Given the description of an element on the screen output the (x, y) to click on. 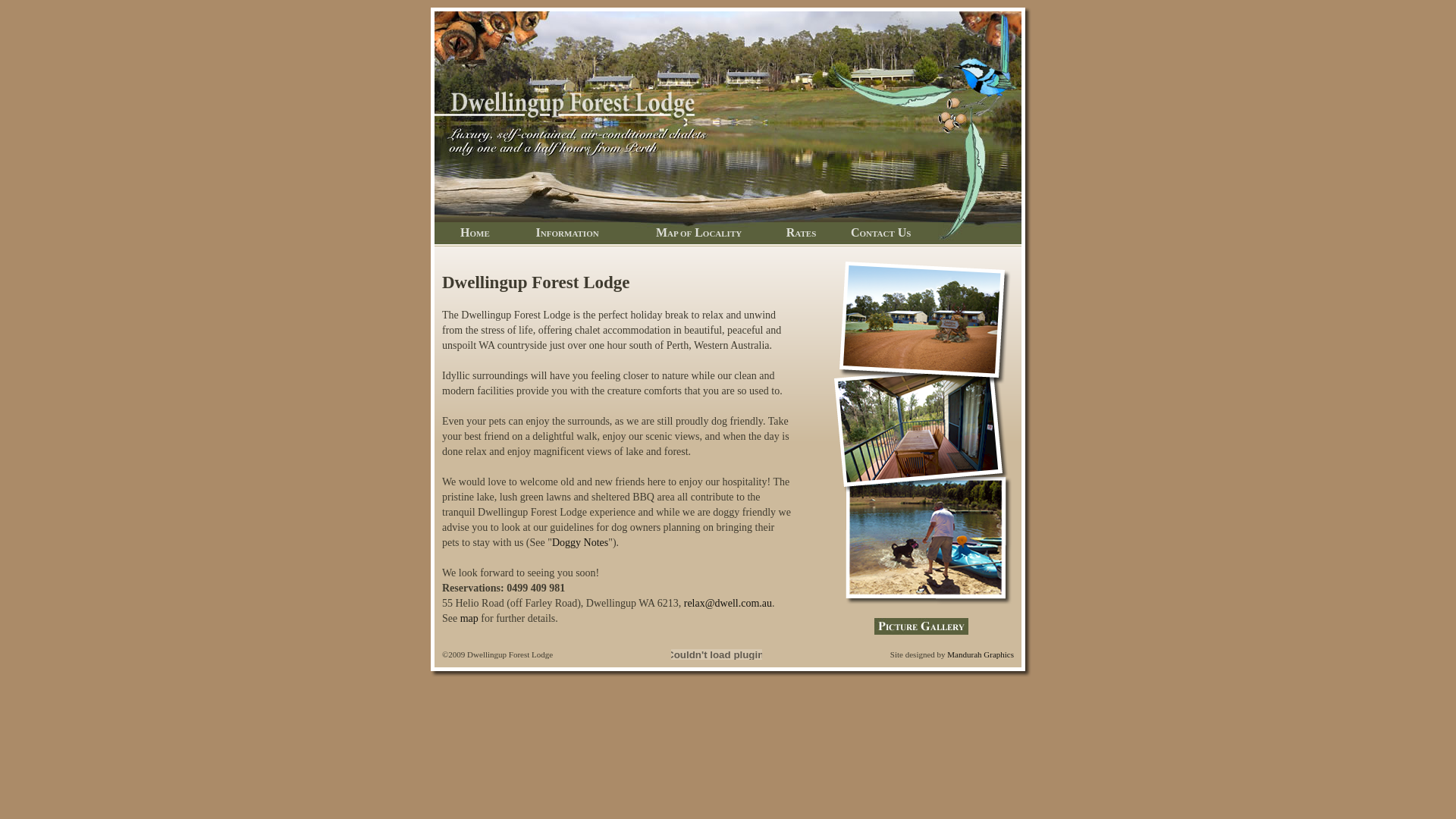
MAP OF LOCALITY Element type: text (698, 231)
HOME Element type: text (474, 231)
relax@dwell.com.au Element type: text (727, 602)
INFORMATION Element type: text (567, 231)
RATES Element type: text (800, 231)
Doggy Notes Element type: text (580, 542)
CONTACT US Element type: text (880, 231)
Sound Control Element type: hover (716, 654)
Mandurah Graphics Element type: text (980, 653)
map Element type: text (469, 618)
